Given the description of an element on the screen output the (x, y) to click on. 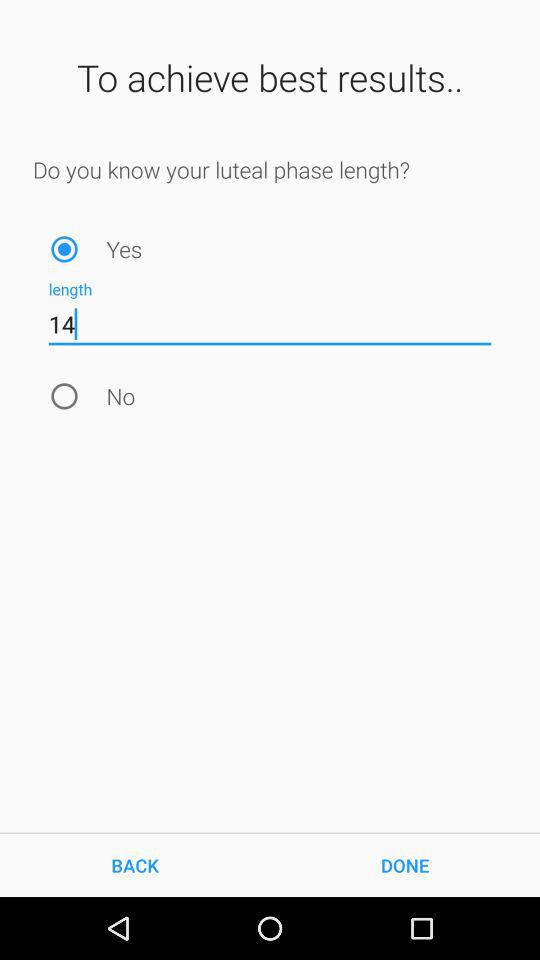
flip until the 14 item (269, 324)
